Given the description of an element on the screen output the (x, y) to click on. 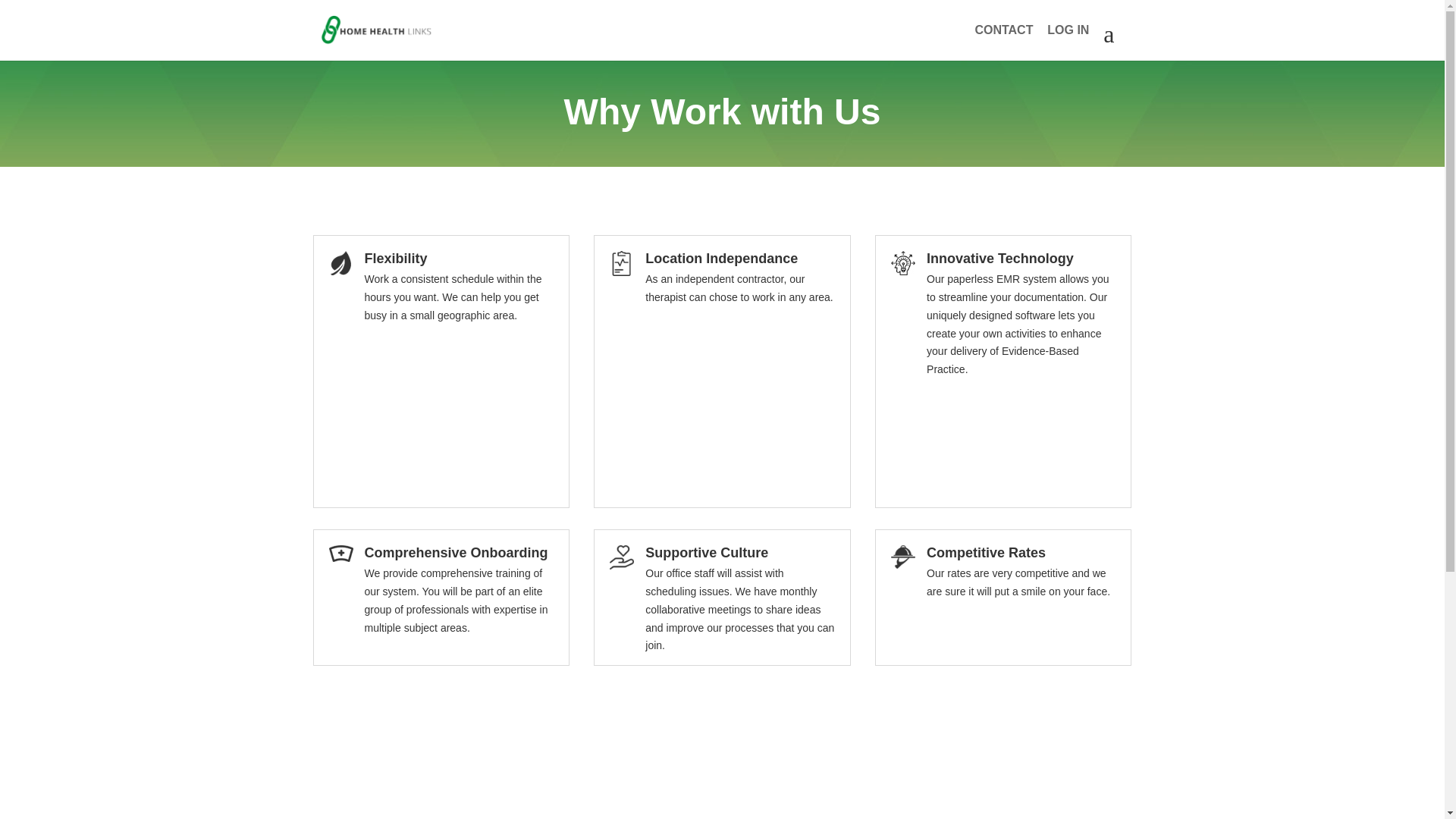
CONTACT (1003, 42)
LOG IN (1067, 42)
